Given the description of an element on the screen output the (x, y) to click on. 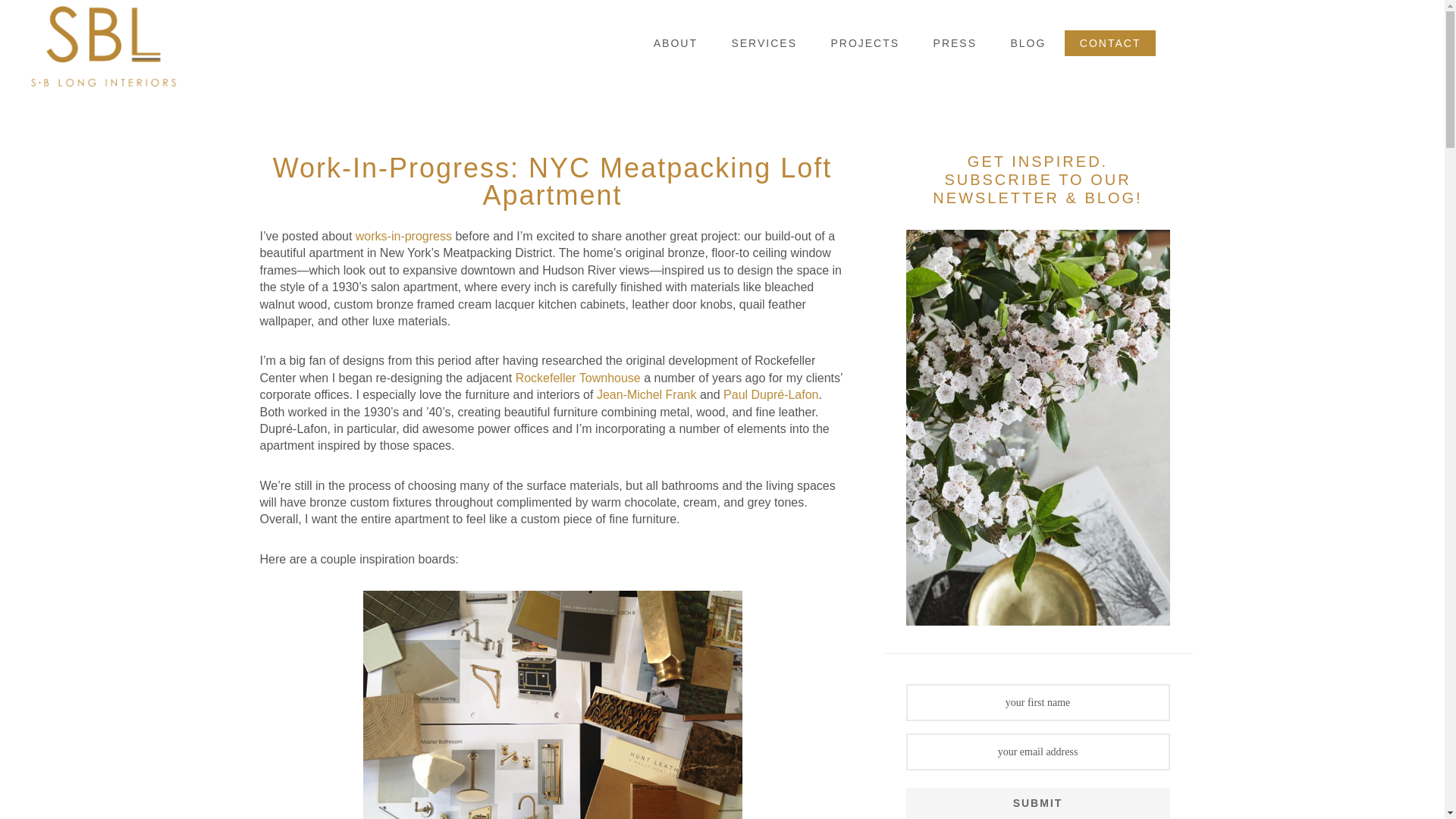
works-in-progress (403, 236)
ABOUT (676, 43)
PROJECTS (864, 43)
Rockefeller Townhouse (577, 377)
PRESS (954, 43)
BLOG (1027, 43)
SERVICES (764, 43)
Jean-Michel Frank (648, 394)
CONTACT (1110, 43)
